Given the description of an element on the screen output the (x, y) to click on. 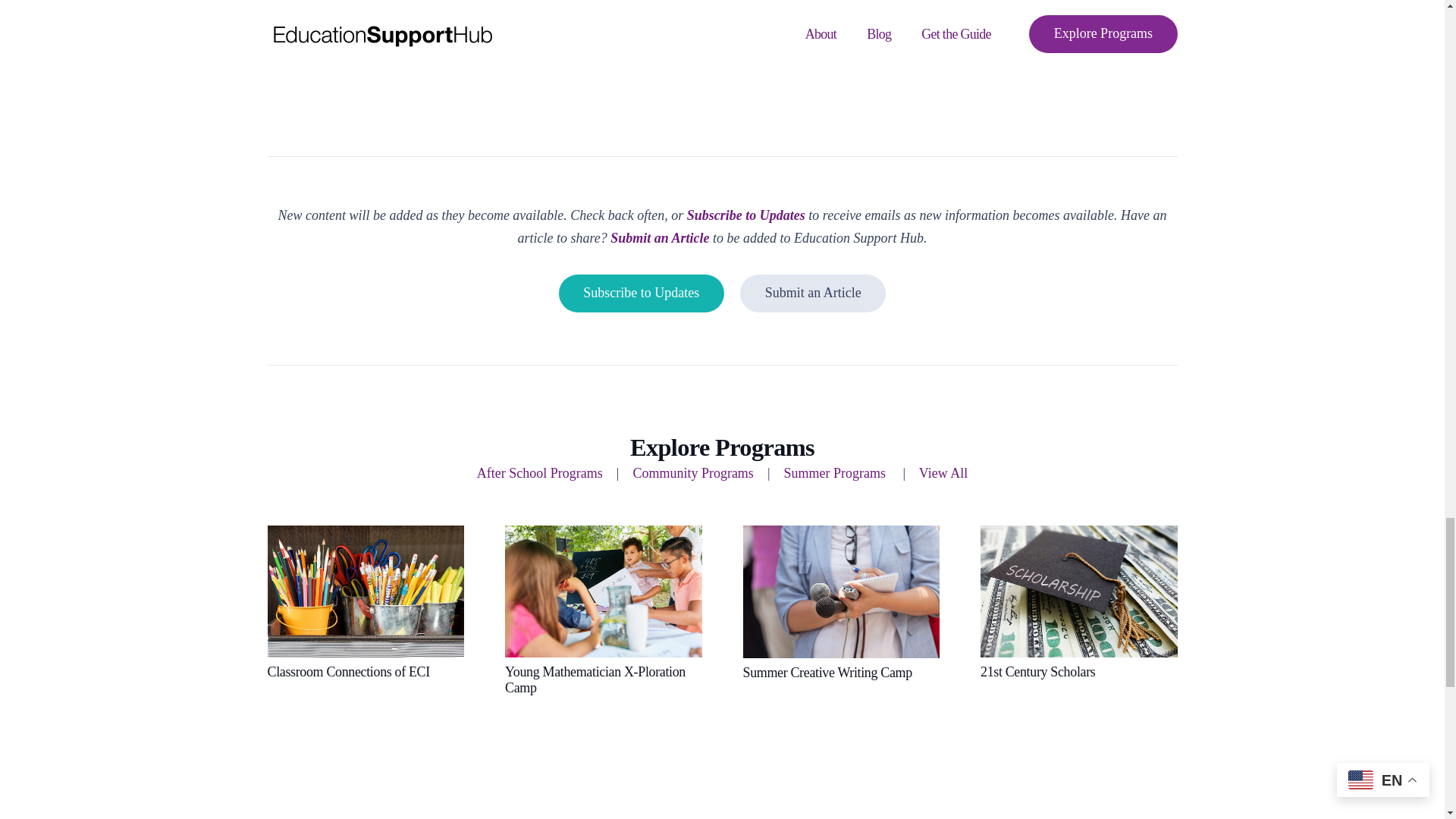
Subscribe to Updates (746, 215)
Classroom Connections of ECI (347, 671)
21st Century Scholars (1036, 671)
Subscribe to Updates (641, 293)
Subscribe to Updates (641, 293)
Submit an Update (812, 293)
Young Mathematician X-Ploration Camp (595, 680)
Community Programs (692, 473)
Submit an Article (659, 237)
Summer Programs (835, 473)
